Given the description of an element on the screen output the (x, y) to click on. 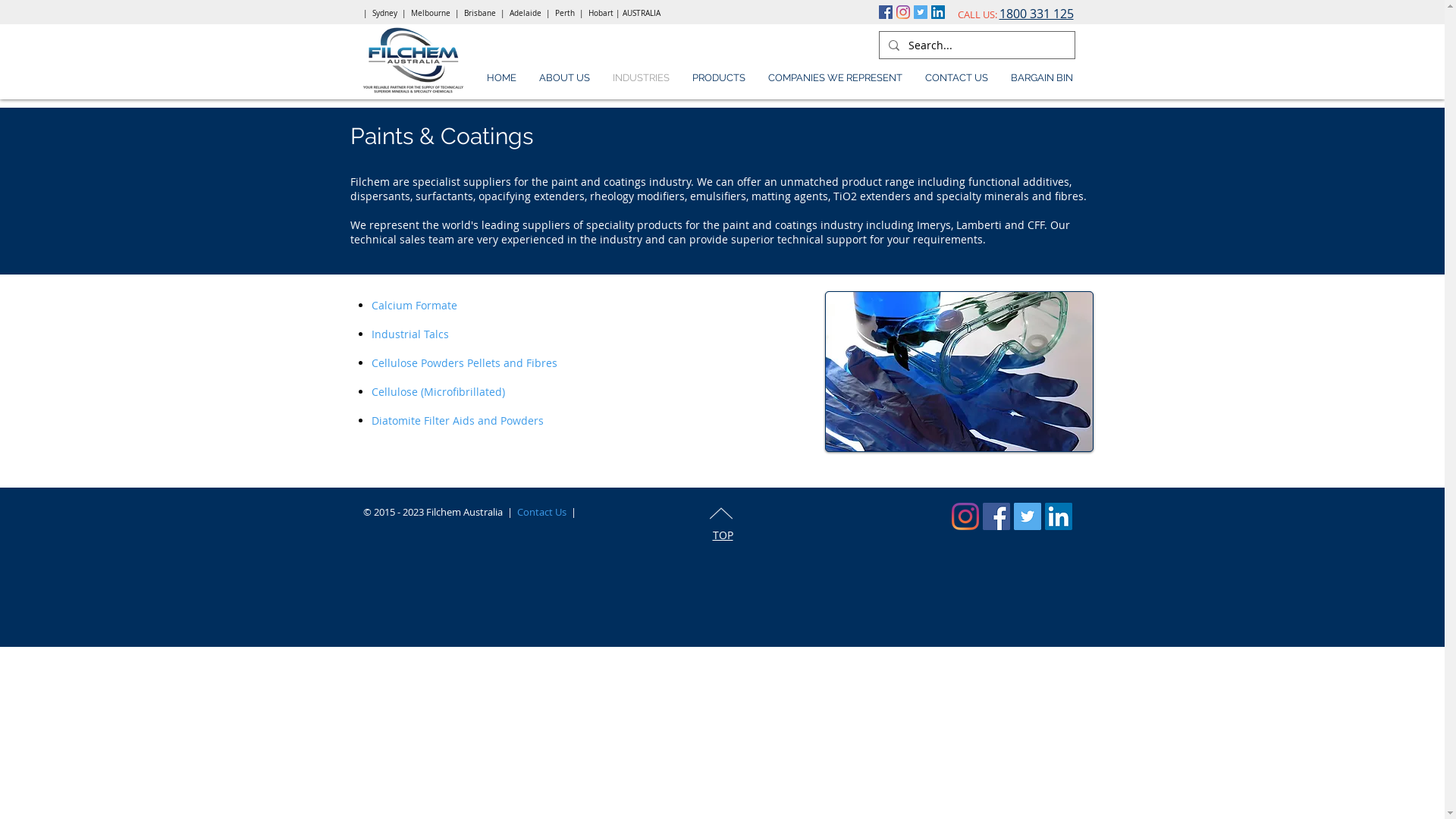
Diatomite Filter Aids and Powders Element type: text (457, 420)
HOME Element type: text (500, 77)
BARGAIN BIN Element type: text (1041, 77)
CONTACT US Element type: text (955, 77)
Contact Us Element type: text (541, 511)
Cellulose (Microfibrillated) Element type: text (438, 391)
ABOUT US Element type: text (564, 77)
Industrial Talcs Element type: text (409, 333)
1800 331 125 Element type: text (1036, 14)
TOP Element type: text (722, 534)
INDUSTRIES Element type: text (640, 77)
paints-and-coatings-dispersants-australia.jpg Element type: hover (959, 371)
Filchem Industrial and Fine Food Chemicals Australia Element type: hover (412, 60)
PRODUCTS Element type: text (718, 77)
Calcium Formate Element type: text (414, 305)
Cellulose Powders Pellets and Fibres Element type: text (464, 362)
COMPANIES WE REPRESENT Element type: text (834, 77)
